Given the description of an element on the screen output the (x, y) to click on. 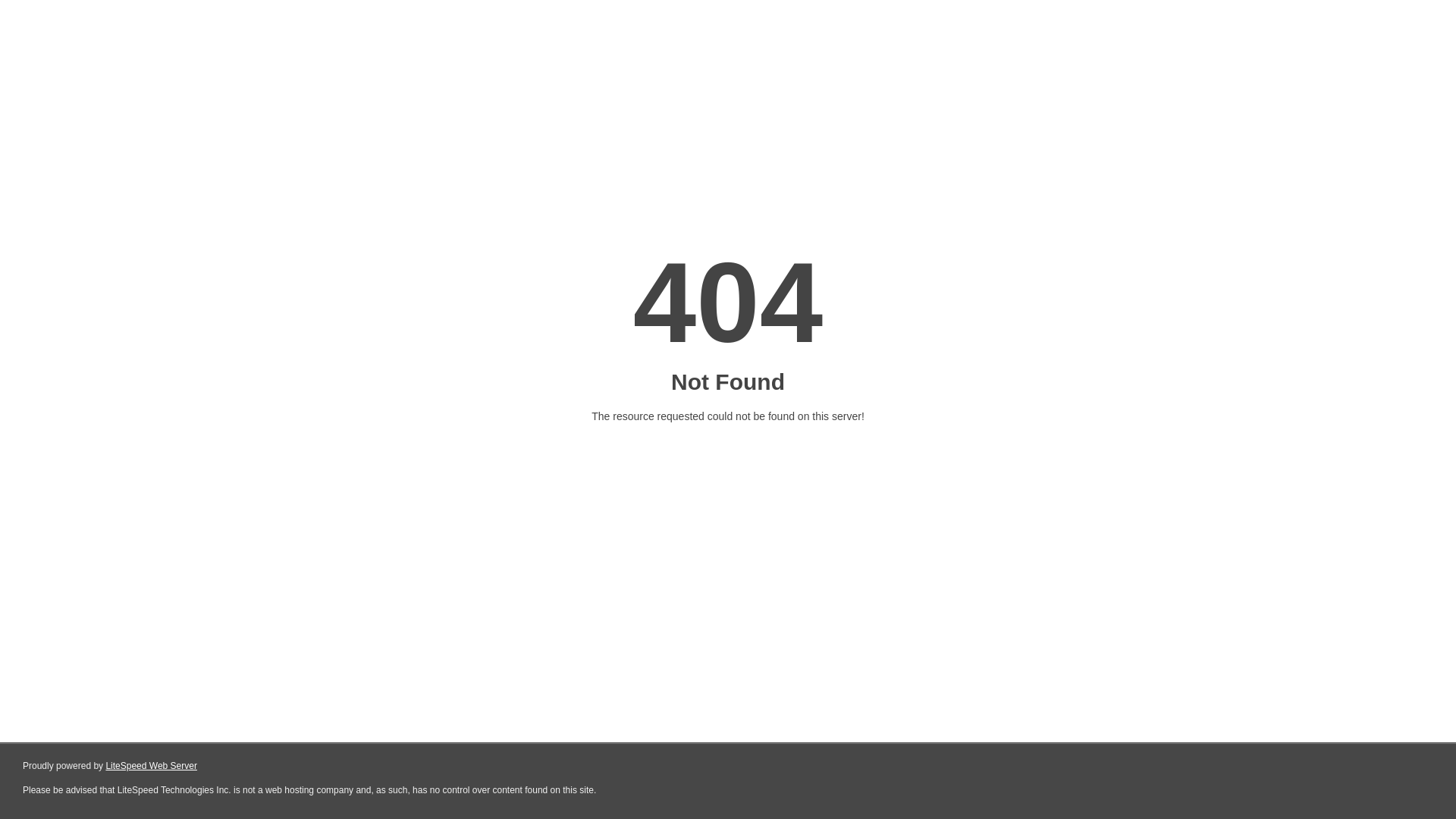
LiteSpeed Web Server Element type: text (151, 765)
